Given the description of an element on the screen output the (x, y) to click on. 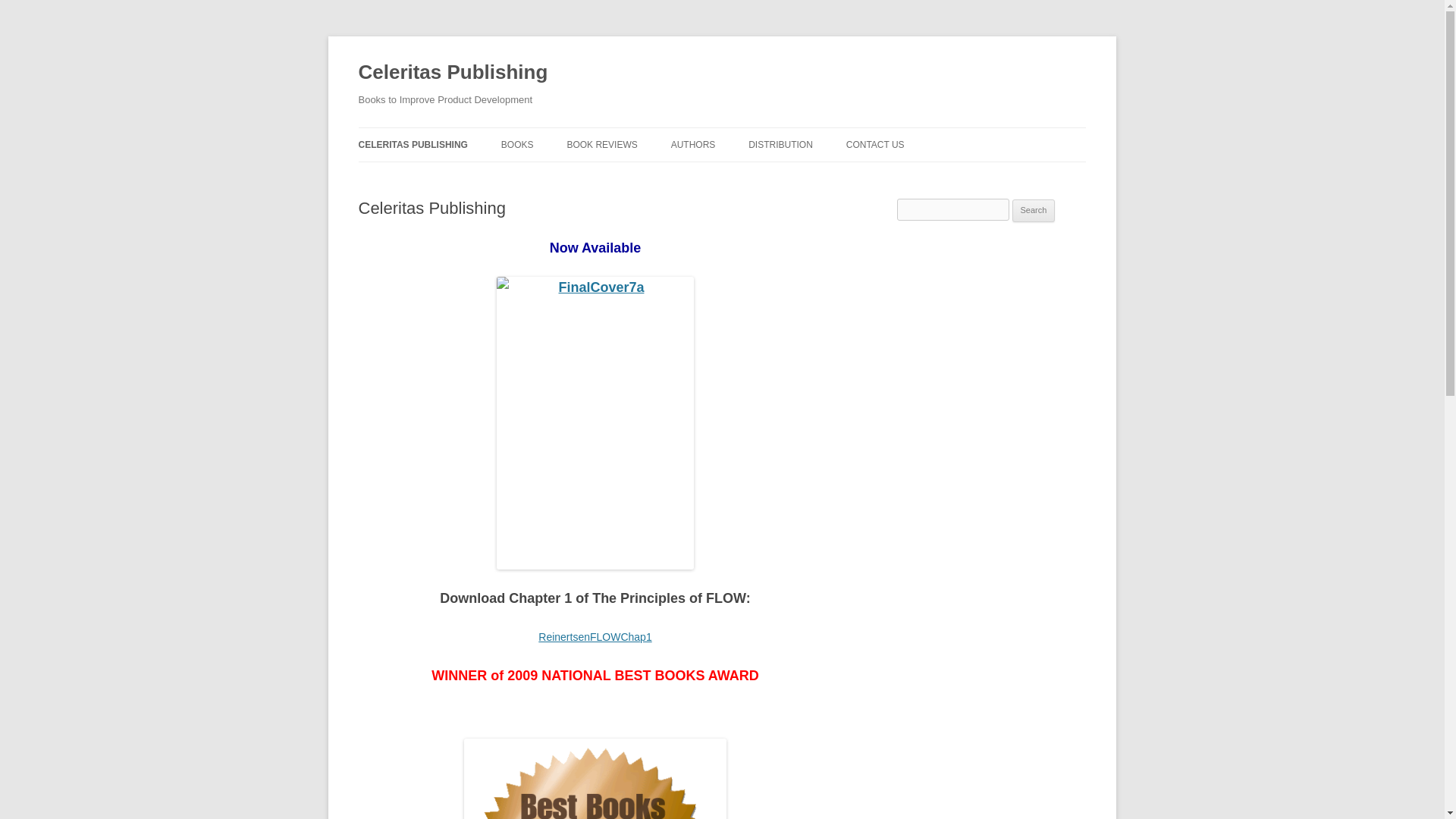
BOOKS (517, 144)
CONTACT US (874, 144)
BOOK REVIEWS (601, 144)
LOCATION (921, 176)
CELERITAS PUBLISHING (412, 144)
Search (1033, 210)
DISTRIBUTION (780, 144)
Search (1033, 210)
Celeritas Publishing (452, 72)
ReinertsenFLOWChap1 (594, 636)
AUTHORS (693, 144)
